Given the description of an element on the screen output the (x, y) to click on. 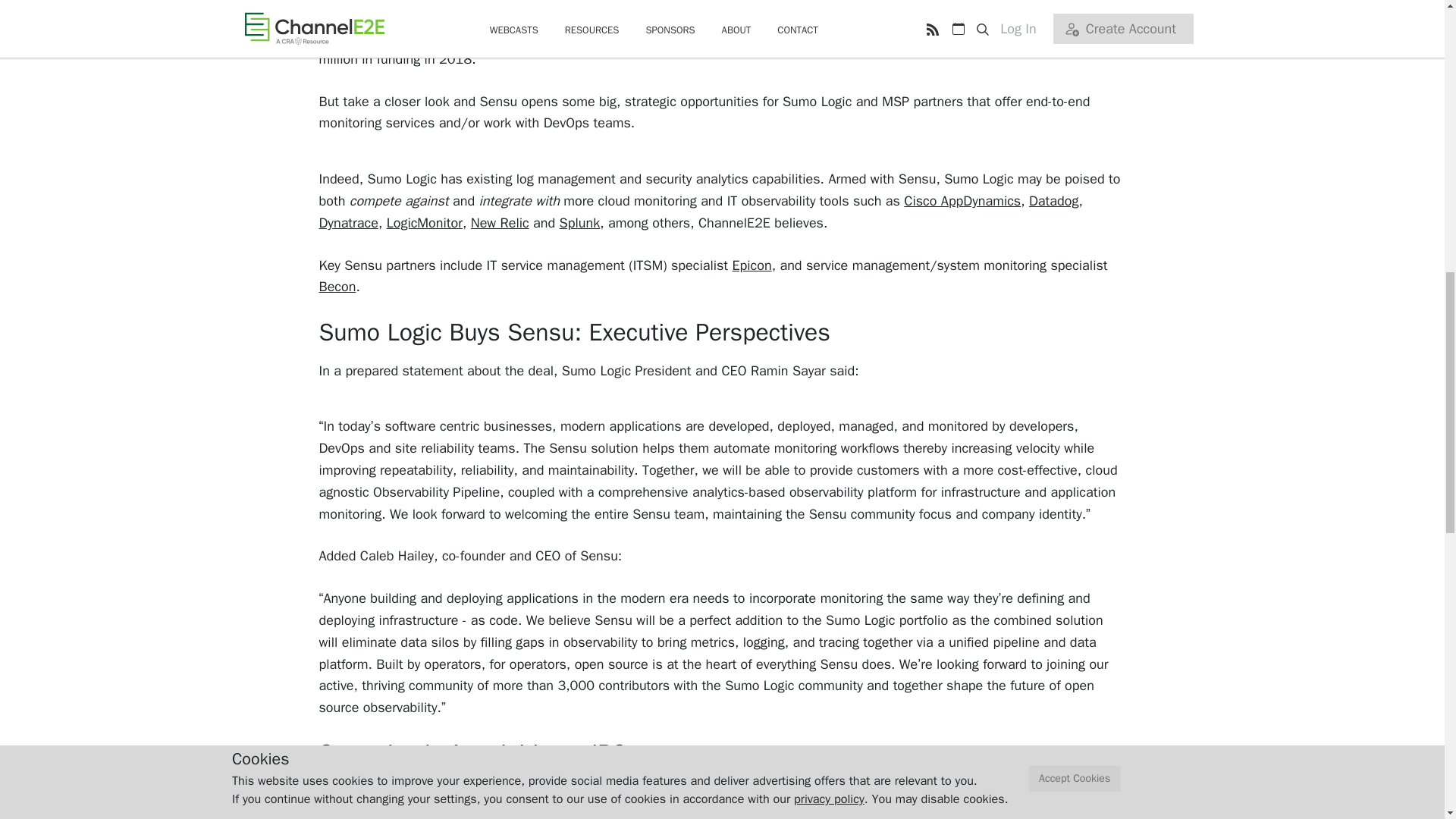
LogicMonitor (425, 222)
Splunk (579, 222)
Becon (336, 286)
Epicon (751, 265)
New Relic (499, 222)
Dynatrace (347, 222)
Sumo Logic launched a successful IPO (735, 811)
Cisco AppDynamics (962, 200)
Datadog (1053, 200)
acquired DFLabs for SOAR (841, 790)
